Given the description of an element on the screen output the (x, y) to click on. 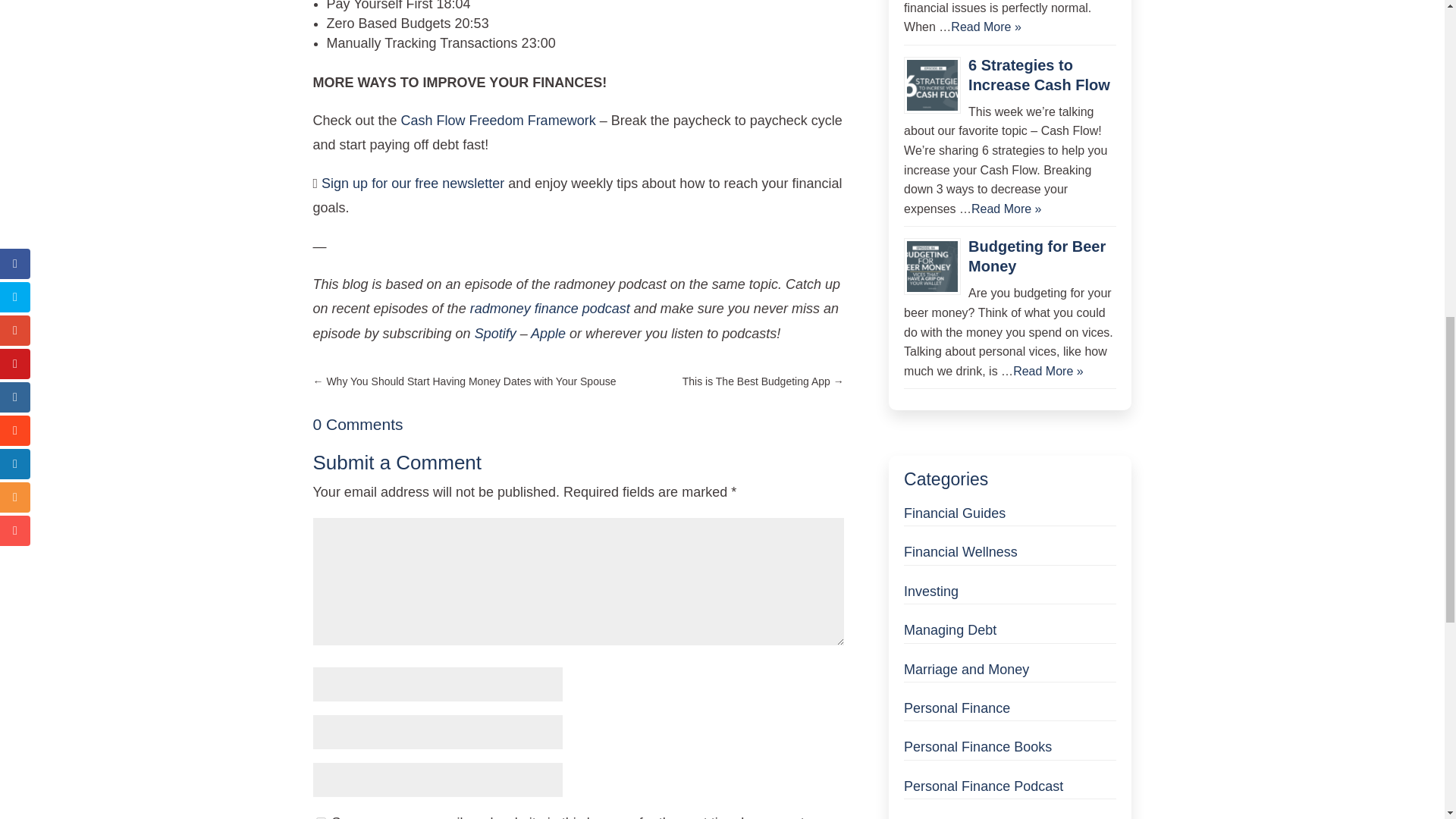
Apple (548, 333)
Cash Flow Freedom Framework (498, 120)
Investing (931, 590)
6 Strategies to Increase Cash Flow (1038, 74)
Financial Guides (955, 513)
Financial Wellness (960, 551)
 Sign up for our free newsletter (410, 183)
Budgeting for Beer Money (1036, 256)
Spotify (495, 333)
Managing Debt (949, 630)
radmoney finance podcast (550, 308)
